Given the description of an element on the screen output the (x, y) to click on. 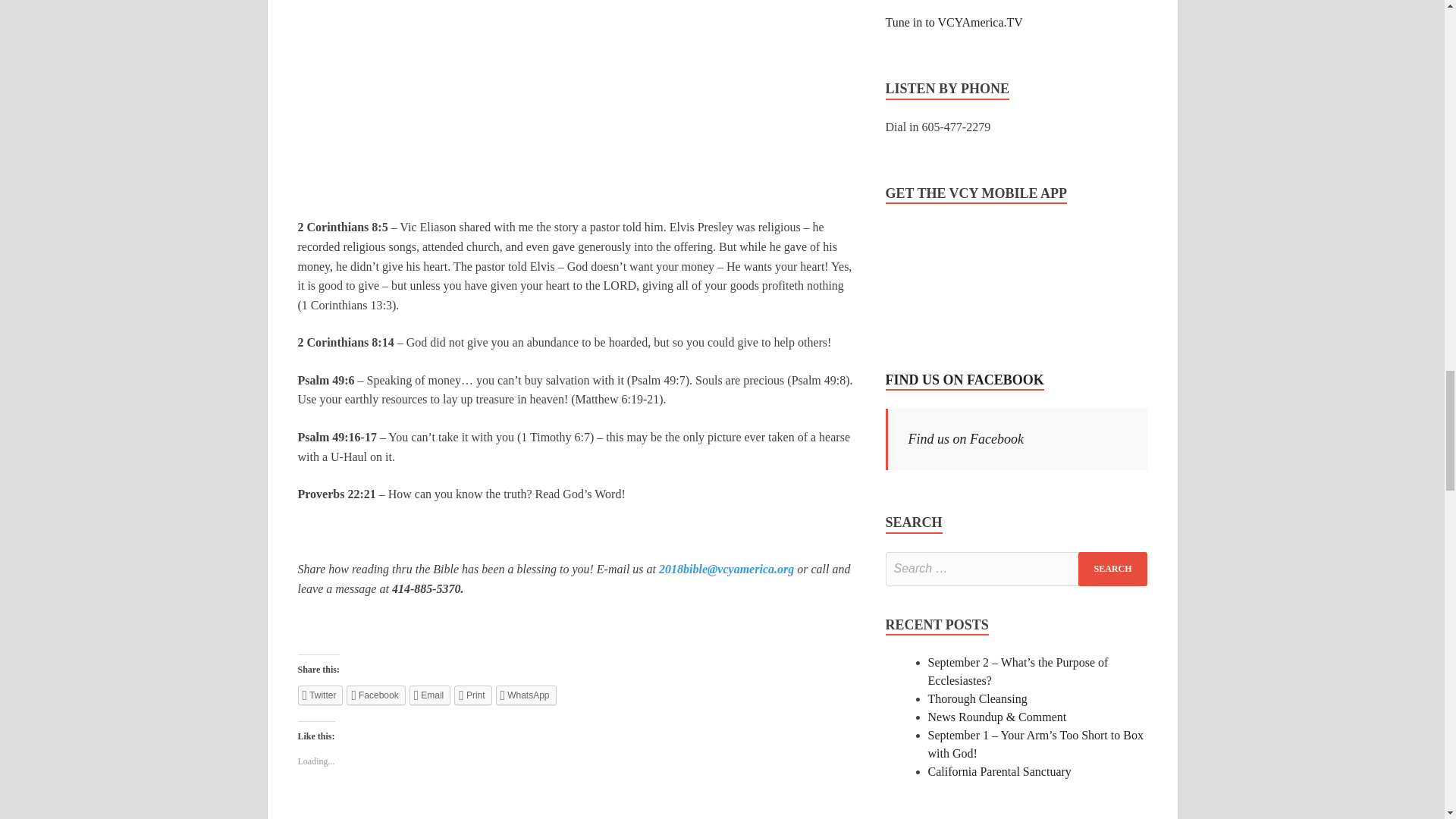
Click to email a link to a friend (430, 695)
Get the VCY Mobile App (941, 278)
Search (1112, 569)
Click to share on Twitter (319, 695)
Click to share on WhatsApp (526, 695)
Click to share on Facebook (375, 695)
Search (1112, 569)
Click to print (473, 695)
